Given the description of an element on the screen output the (x, y) to click on. 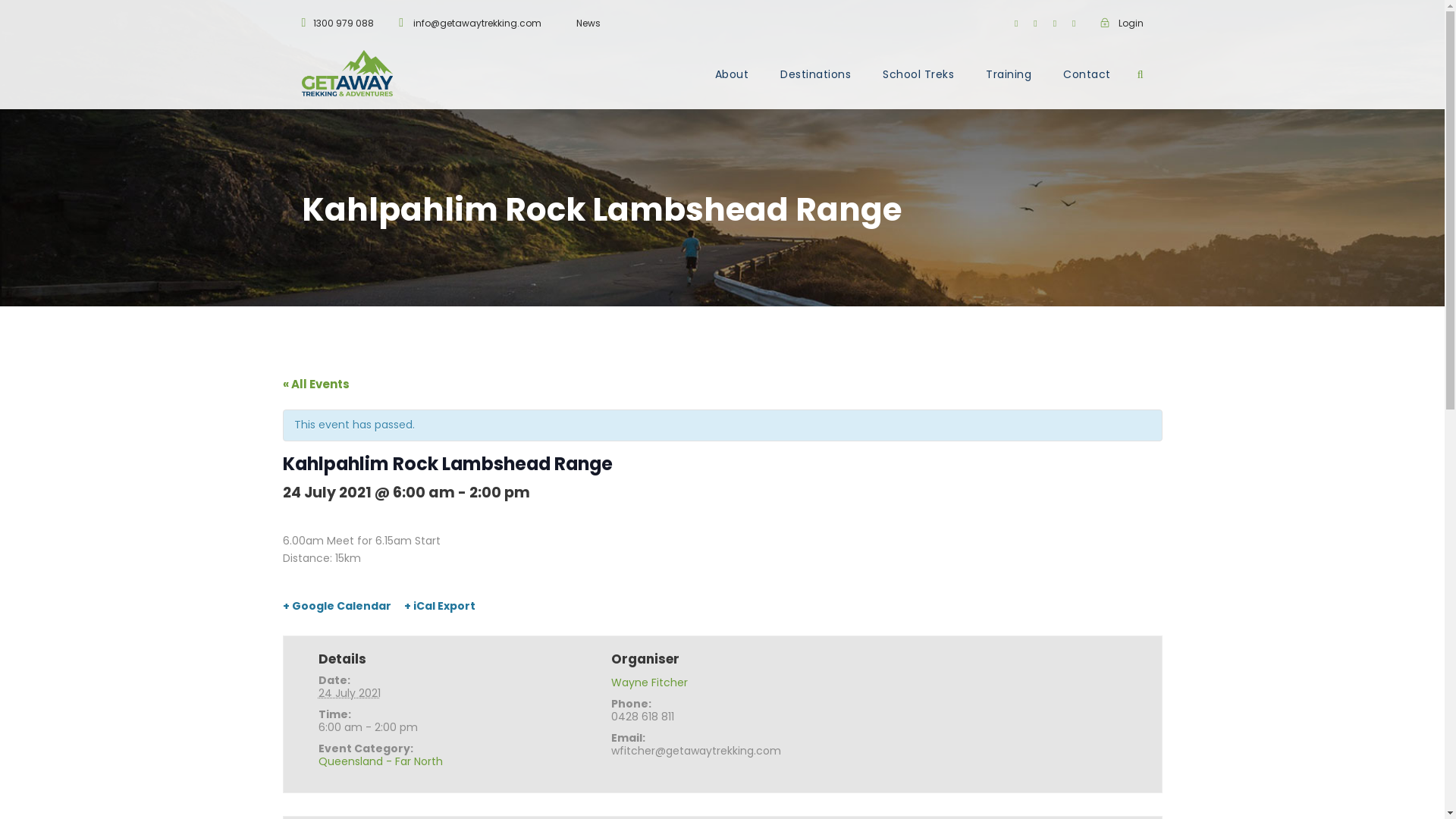
twitter Element type: hover (1034, 22)
News Element type: text (588, 22)
Queensland - Far North Element type: text (380, 760)
GTA-2020-RGB Element type: hover (346, 73)
youtube Element type: hover (1054, 22)
Contact Element type: text (1086, 87)
+ Google Calendar Element type: text (336, 605)
Training Element type: text (1008, 87)
School Treks Element type: text (917, 87)
About Element type: text (732, 87)
instagram Element type: hover (1073, 22)
facebook Element type: hover (1015, 22)
info@getawaytrekking.com Element type: text (477, 22)
Login Element type: text (1120, 22)
+ iCal Export Element type: text (439, 605)
Destinations Element type: text (815, 87)
1300 979 088 Element type: text (343, 22)
Wayne Fitcher Element type: text (649, 682)
